Given the description of an element on the screen output the (x, y) to click on. 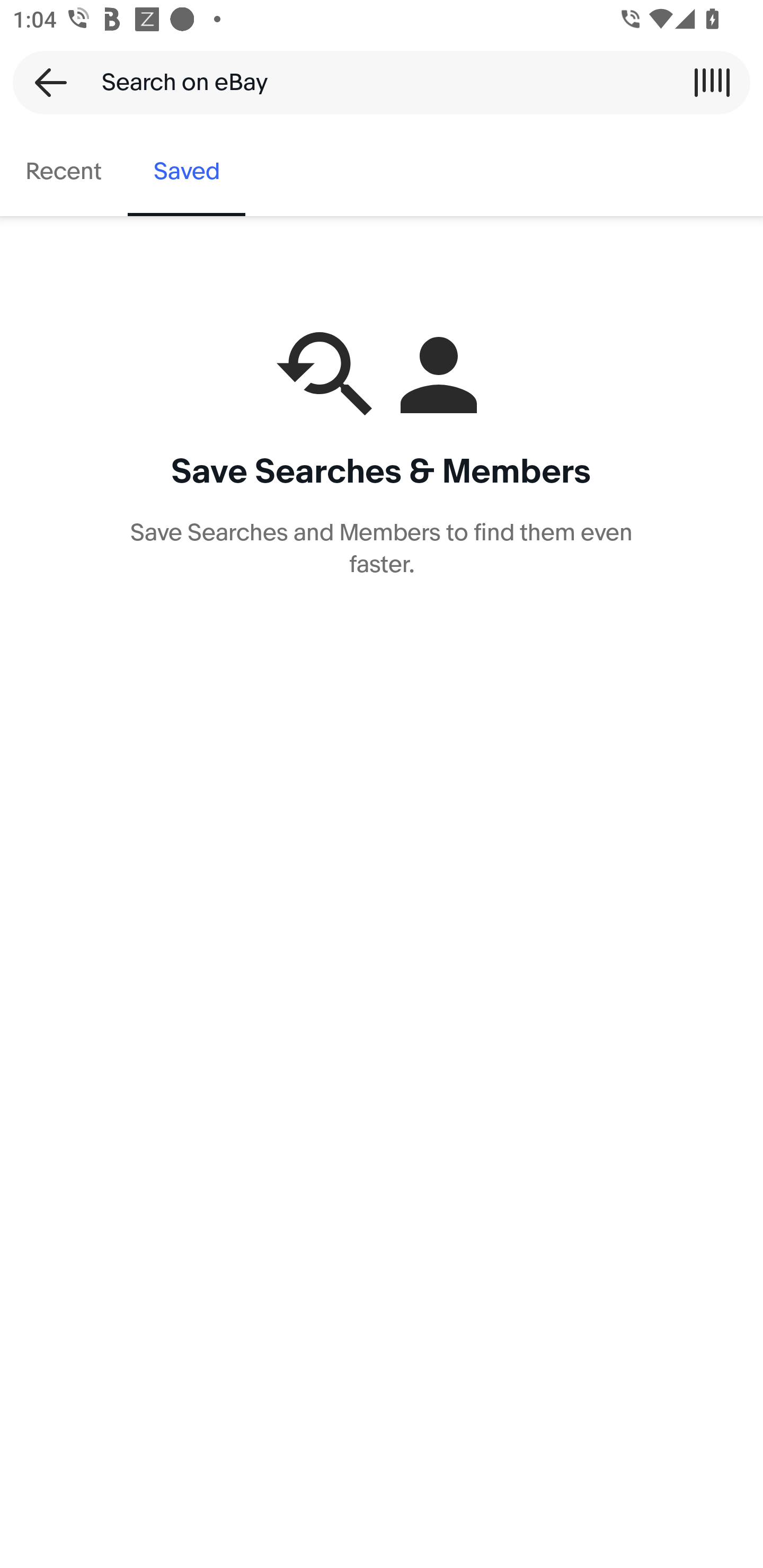
Back (44, 82)
Scan a barcode (711, 82)
Search on eBay (375, 82)
Recent, tab 1 of 2 Recent (63, 171)
